Given the description of an element on the screen output the (x, y) to click on. 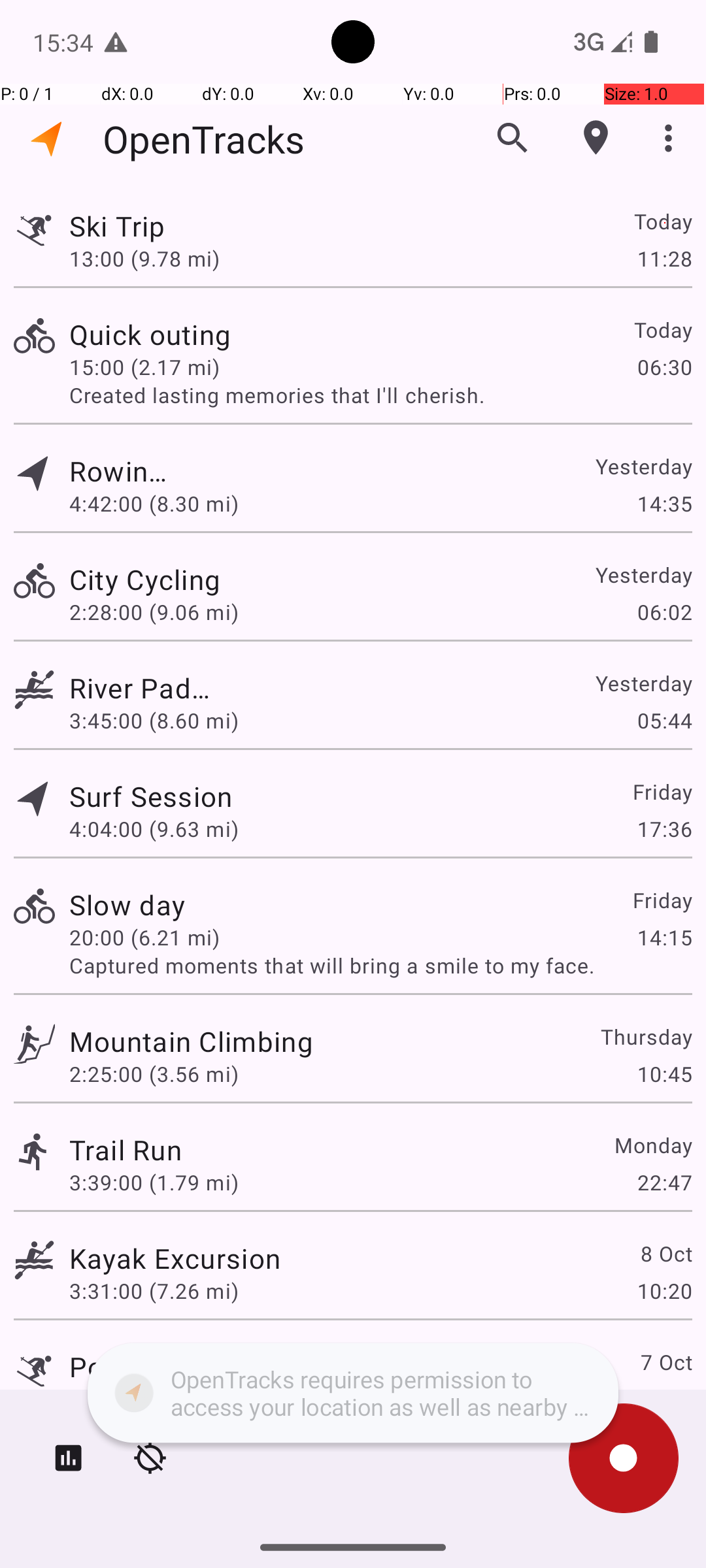
Ski Trip Element type: android.widget.TextView (126, 225)
13:00 (9.78 mi) Element type: android.widget.TextView (144, 258)
11:28 Element type: android.widget.TextView (664, 258)
Quick outing Element type: android.widget.TextView (190, 333)
15:00 (2.17 mi) Element type: android.widget.TextView (153, 366)
06:30 Element type: android.widget.TextView (664, 366)
Created lasting memories that I'll cherish. Element type: android.widget.TextView (380, 394)
Rowing Challenge Element type: android.widget.TextView (125, 470)
4:42:00 (8.30 mi) Element type: android.widget.TextView (153, 503)
14:35 Element type: android.widget.TextView (664, 503)
City Cycling Element type: android.widget.TextView (174, 578)
2:28:00 (9.06 mi) Element type: android.widget.TextView (153, 611)
06:02 Element type: android.widget.TextView (664, 611)
River Paddle Element type: android.widget.TextView (145, 687)
3:45:00 (8.60 mi) Element type: android.widget.TextView (153, 720)
05:44 Element type: android.widget.TextView (664, 720)
Surf Session Element type: android.widget.TextView (150, 795)
4:04:00 (9.63 mi) Element type: android.widget.TextView (153, 828)
17:36 Element type: android.widget.TextView (664, 828)
Slow day Element type: android.widget.TextView (126, 904)
20:00 (6.21 mi) Element type: android.widget.TextView (144, 937)
14:15 Element type: android.widget.TextView (664, 937)
Captured moments that will bring a smile to my face. Element type: android.widget.TextView (380, 965)
Mountain Climbing Element type: android.widget.TextView (190, 1040)
2:25:00 (3.56 mi) Element type: android.widget.TextView (153, 1073)
10:45 Element type: android.widget.TextView (664, 1073)
Trail Run Element type: android.widget.TextView (125, 1149)
3:39:00 (1.79 mi) Element type: android.widget.TextView (153, 1182)
22:47 Element type: android.widget.TextView (664, 1182)
Kayak Excursion Element type: android.widget.TextView (174, 1257)
3:31:00 (7.26 mi) Element type: android.widget.TextView (153, 1290)
10:20 Element type: android.widget.TextView (664, 1290)
Powder Day Element type: android.widget.TextView (145, 1366)
7 Oct Element type: android.widget.TextView (665, 1361)
09:00 (1.89 mi) Element type: android.widget.TextView (144, 1399)
16:14 Element type: android.widget.TextView (664, 1399)
